Given the description of an element on the screen output the (x, y) to click on. 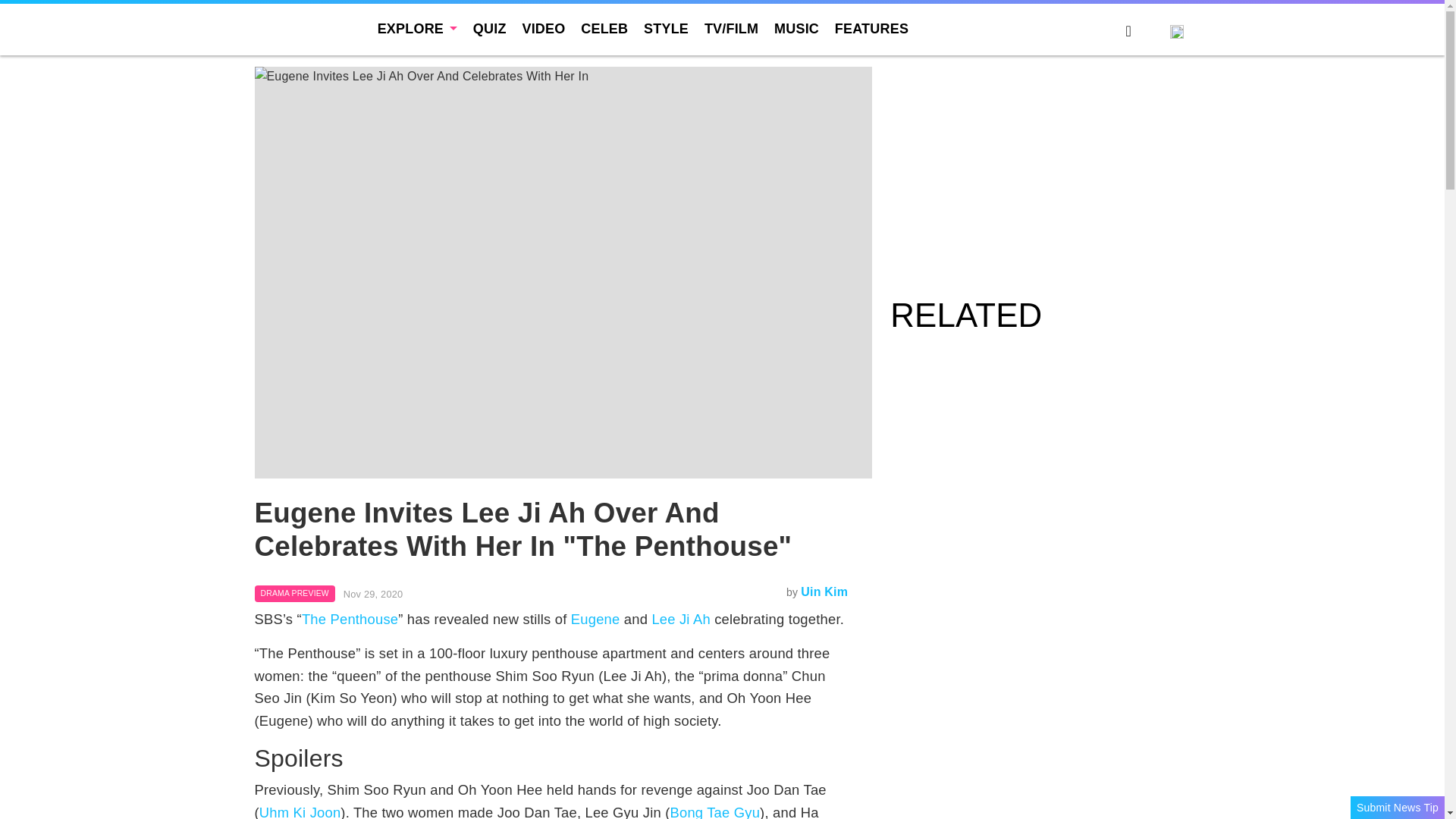
Uin Kim (823, 591)
DRAMA PREVIEW (294, 593)
Night Mode Toggle (1149, 33)
EXPLORE (417, 28)
Articles by Uin Kim (823, 591)
Eugene (595, 618)
VIDEO (542, 28)
QUIZ (489, 28)
Drama Preview (294, 593)
Lee Ji Ah (680, 618)
MUSIC (796, 28)
STYLE (665, 28)
The Penthouse (349, 618)
CELEB (603, 28)
Uhm Ki Joon (299, 811)
